Given the description of an element on the screen output the (x, y) to click on. 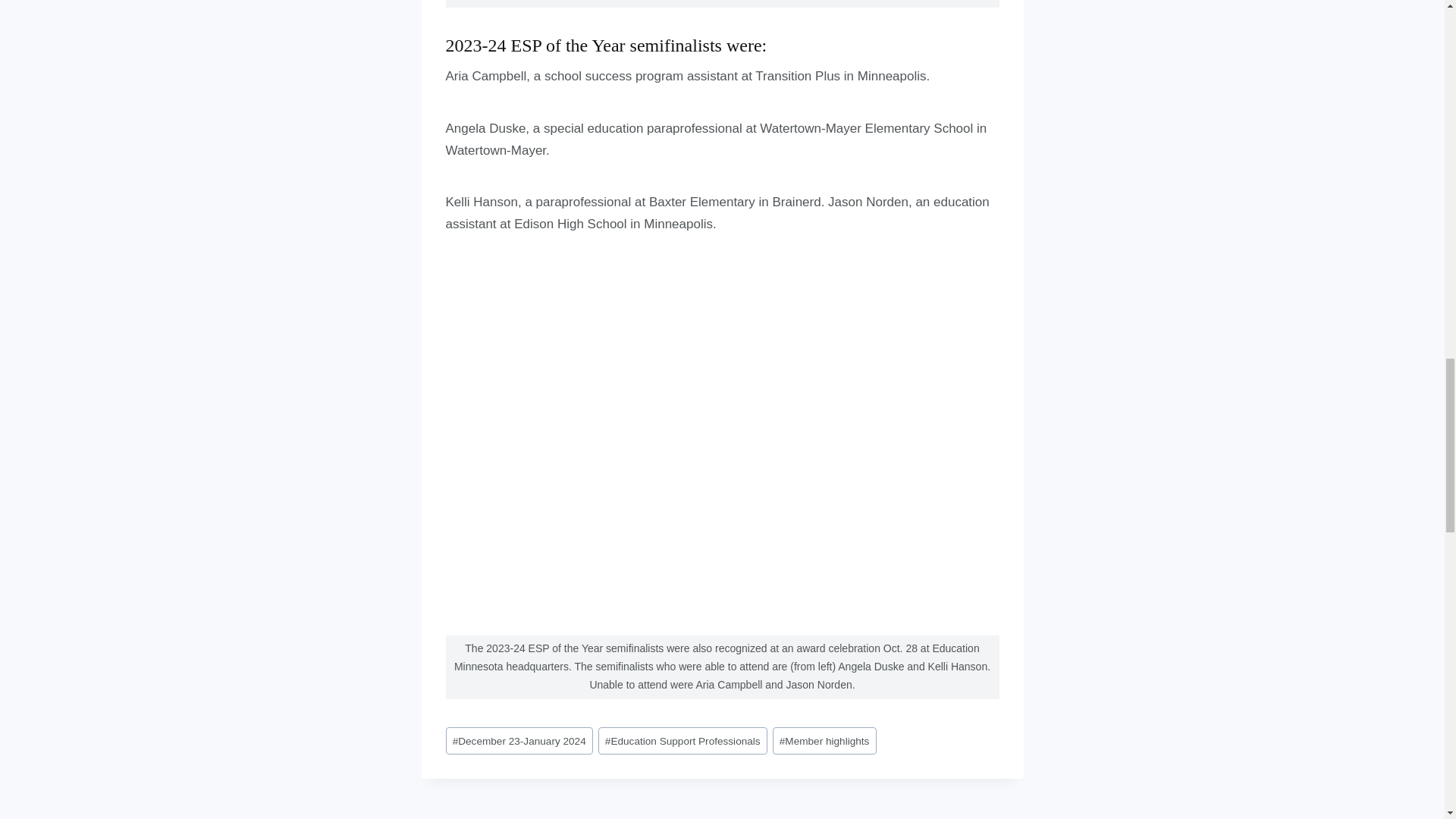
December 23-January 2024 (518, 740)
Member highlights (824, 740)
Education Support Professionals (682, 740)
